Given the description of an element on the screen output the (x, y) to click on. 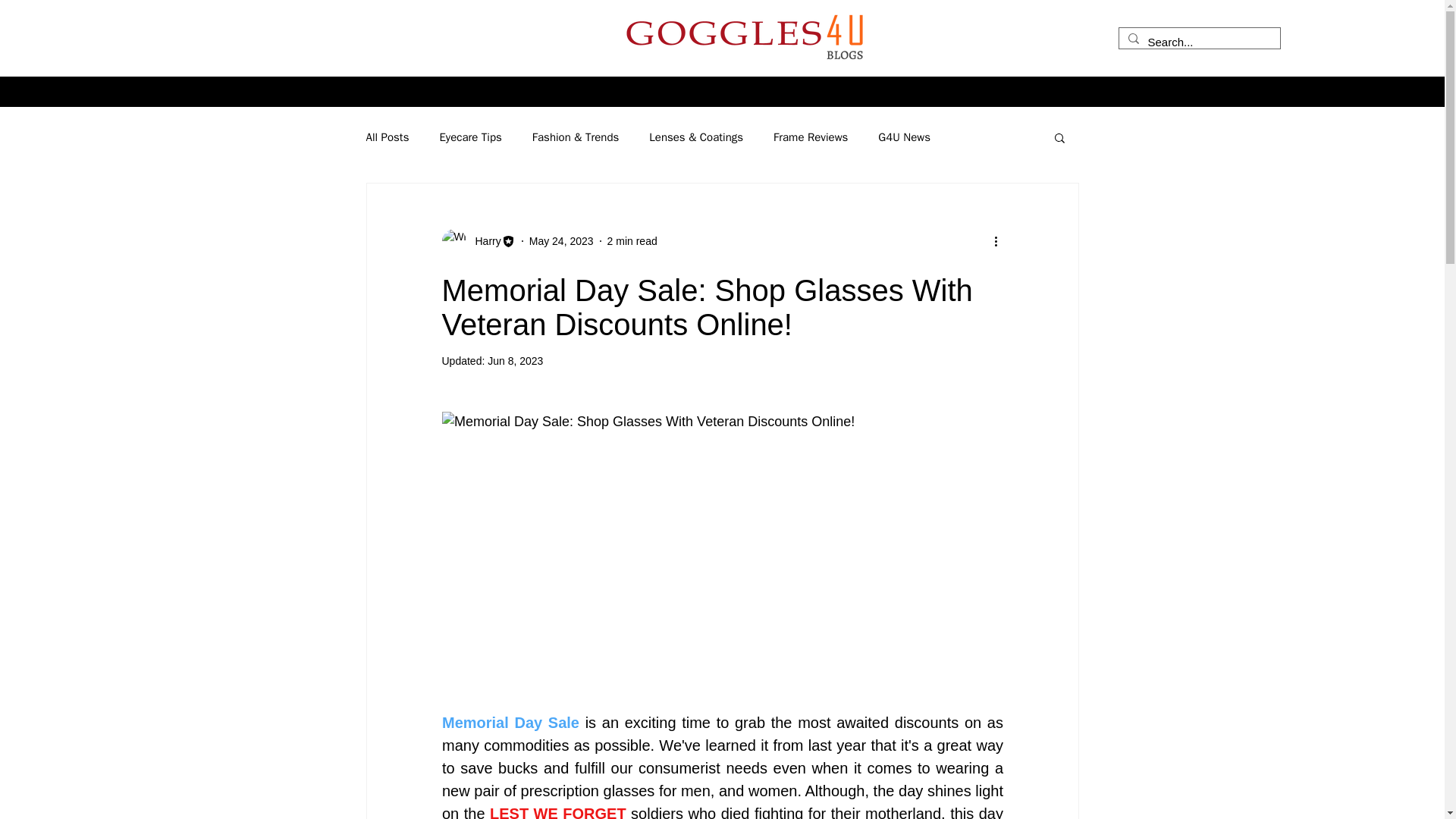
All Posts (387, 137)
Harry (482, 241)
Frame Reviews (810, 137)
G4U News (903, 137)
Jun 8, 2023 (515, 360)
Eyecare Tips (469, 137)
May 24, 2023 (561, 241)
Memorial Day Sale (509, 723)
2 min read (632, 241)
